Given the description of an element on the screen output the (x, y) to click on. 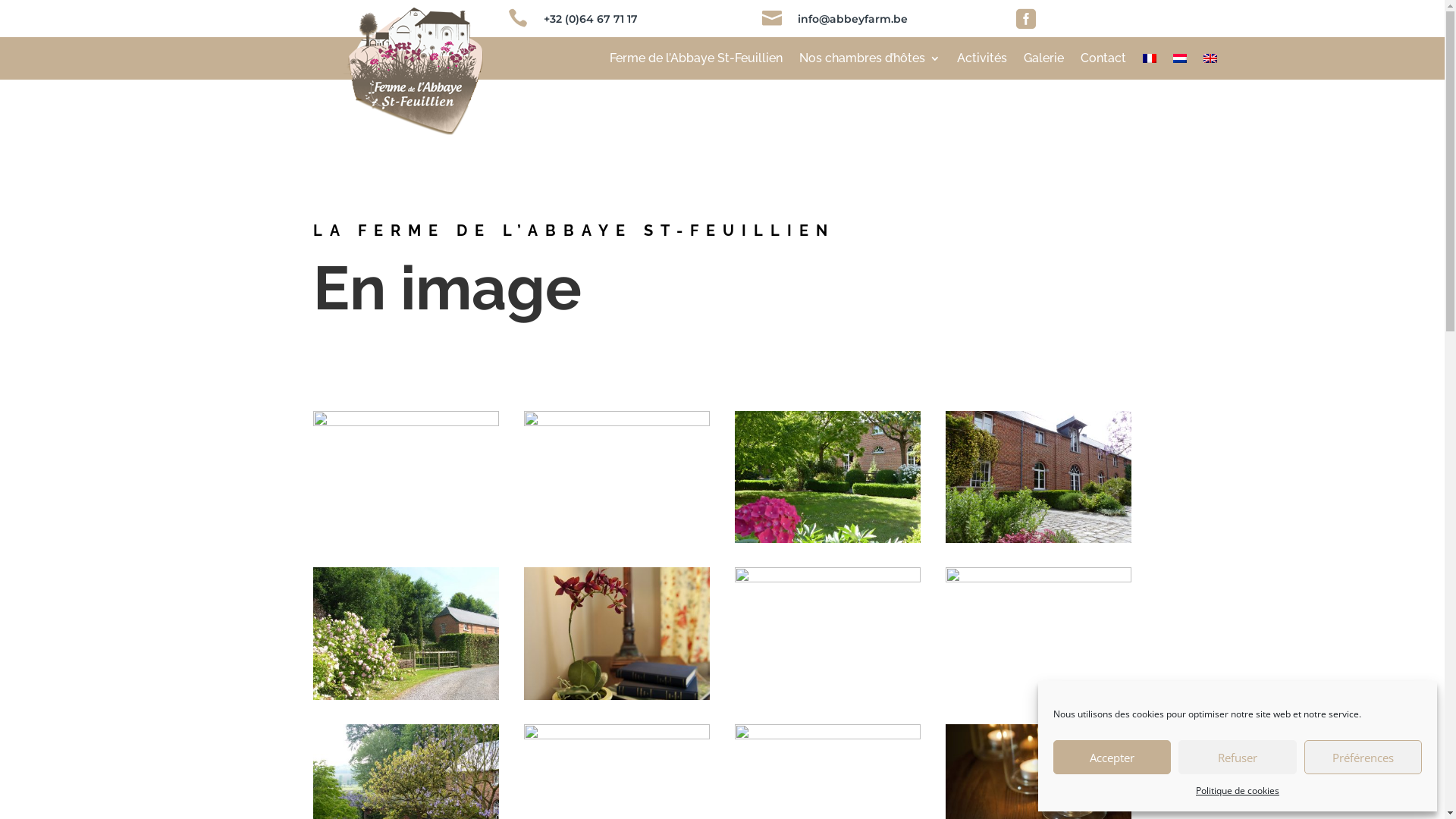
Abbaye Saint Feuillien (6) Element type: hover (1038, 538)
Ferme de l'Abbaye St-Feuillien - Chambres d'hotes (10) Element type: hover (617, 735)
Politique de cookies Element type: text (1237, 790)
Ferme de l'Abbaye St-Feuillien - Chambres d'hotes (11) Element type: hover (827, 735)
Ferme de l'Abbaye St-Feuillien - Chambres d'hotes (9) Element type: hover (1038, 578)
Abbaye Saint Feuillien (4) Element type: hover (405, 695)
Abbaye Saint Feuillien (5) Element type: hover (617, 421)
+32 (0)64 67 71 17 Element type: text (590, 18)
Ferme de l'Abbaye St-Feuillien - Chambres d'hotes (8) Element type: hover (827, 578)
Galerie Element type: text (1043, 61)
Accepter Element type: text (1111, 757)
Contact Element type: text (1103, 61)
Abbaye Saint Feuillien (3) Element type: hover (827, 538)
Ferme de l'Abbaye St-Feuillien - Chambres d'hotes (7) Element type: hover (617, 695)
Refuser Element type: text (1236, 757)
info@abbeyfarm.be Element type: text (852, 18)
Abbaye Saint Feuillien (2) Element type: hover (405, 421)
